Given the description of an element on the screen output the (x, y) to click on. 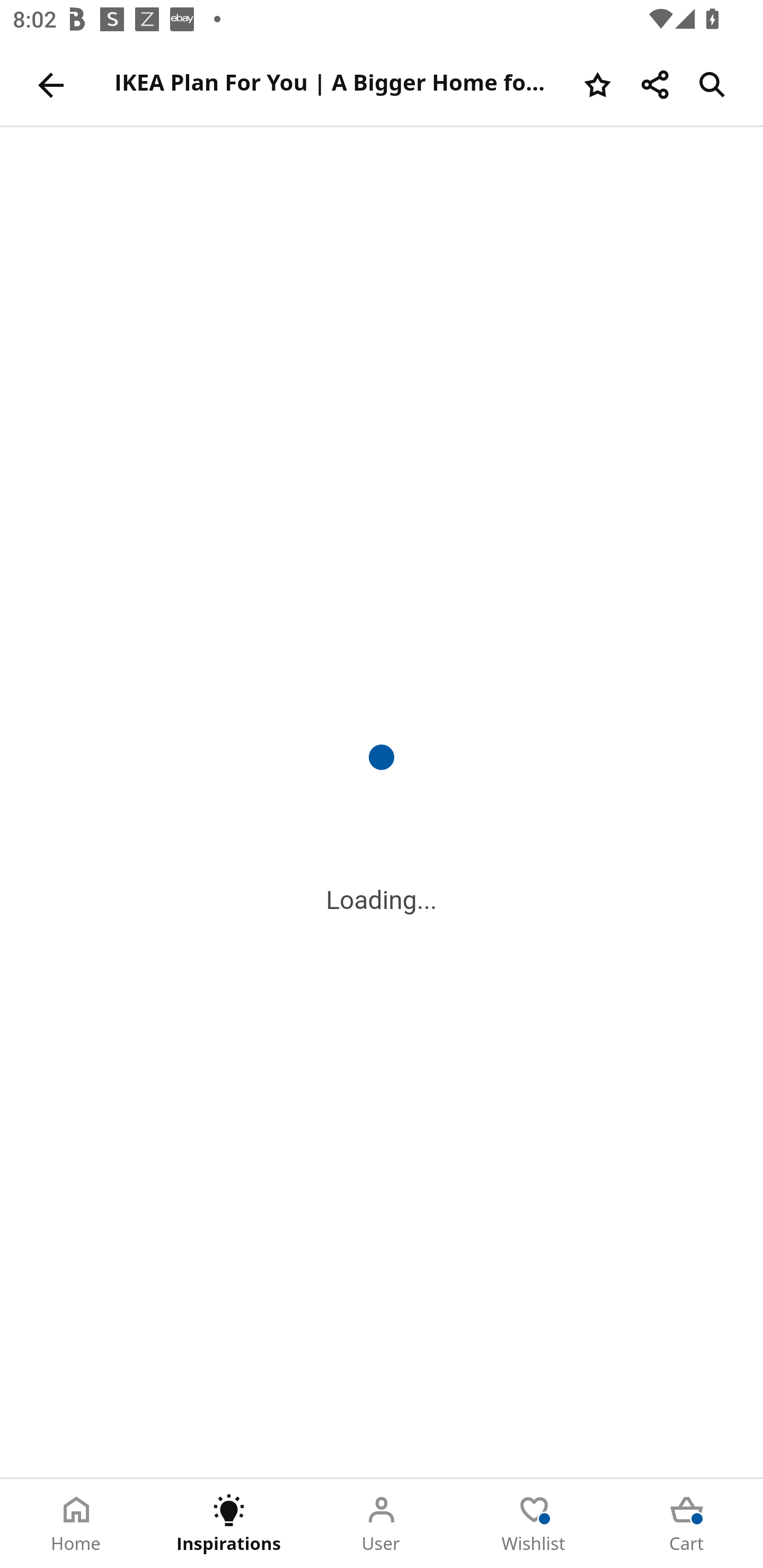
Home
Tab 1 of 5 (76, 1522)
Inspirations
Tab 2 of 5 (228, 1522)
User
Tab 3 of 5 (381, 1522)
Wishlist
Tab 4 of 5 (533, 1522)
Cart
Tab 5 of 5 (686, 1522)
